Given the description of an element on the screen output the (x, y) to click on. 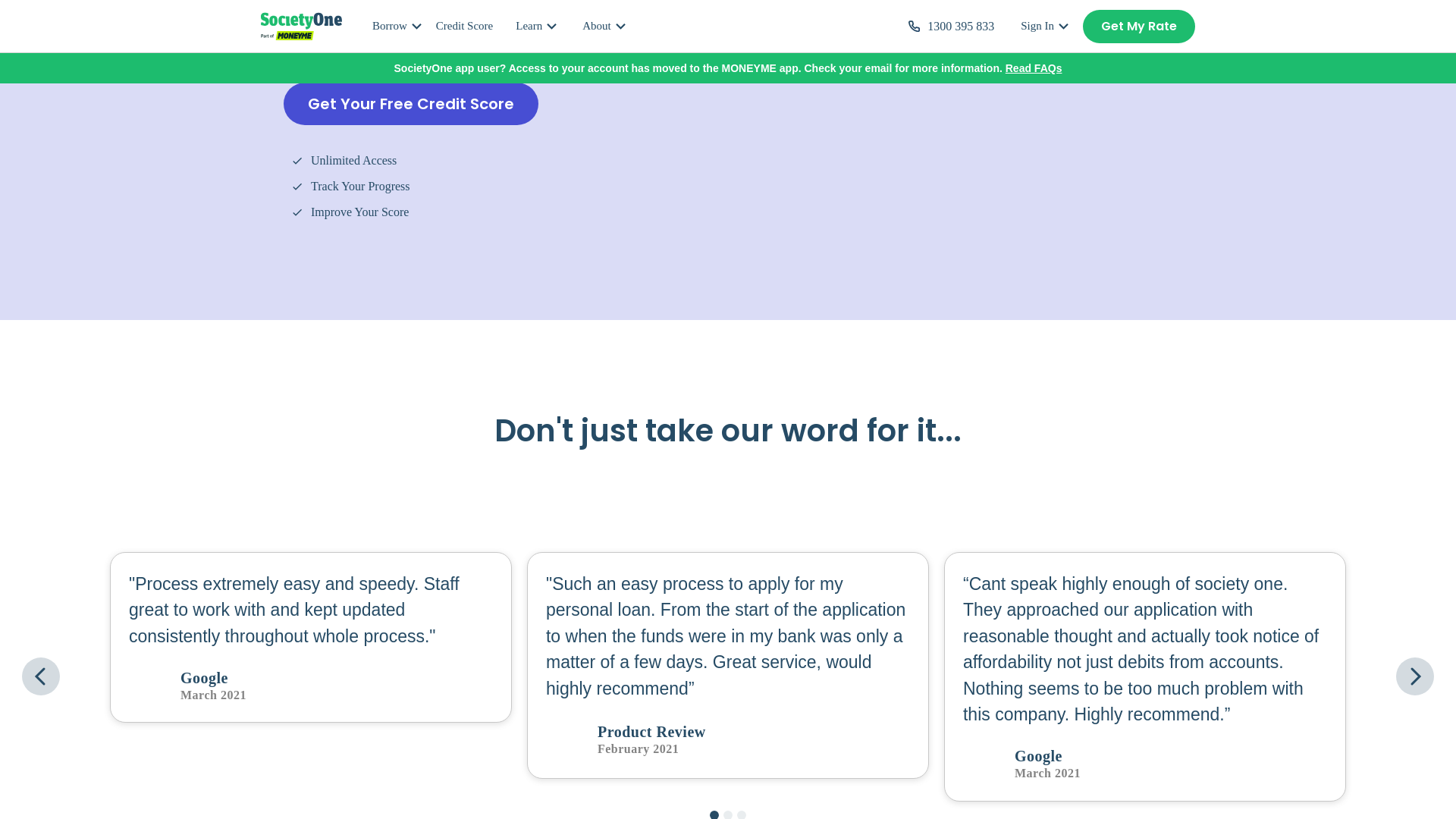
Get Your Free Credit Score (410, 103)
